Given the description of an element on the screen output the (x, y) to click on. 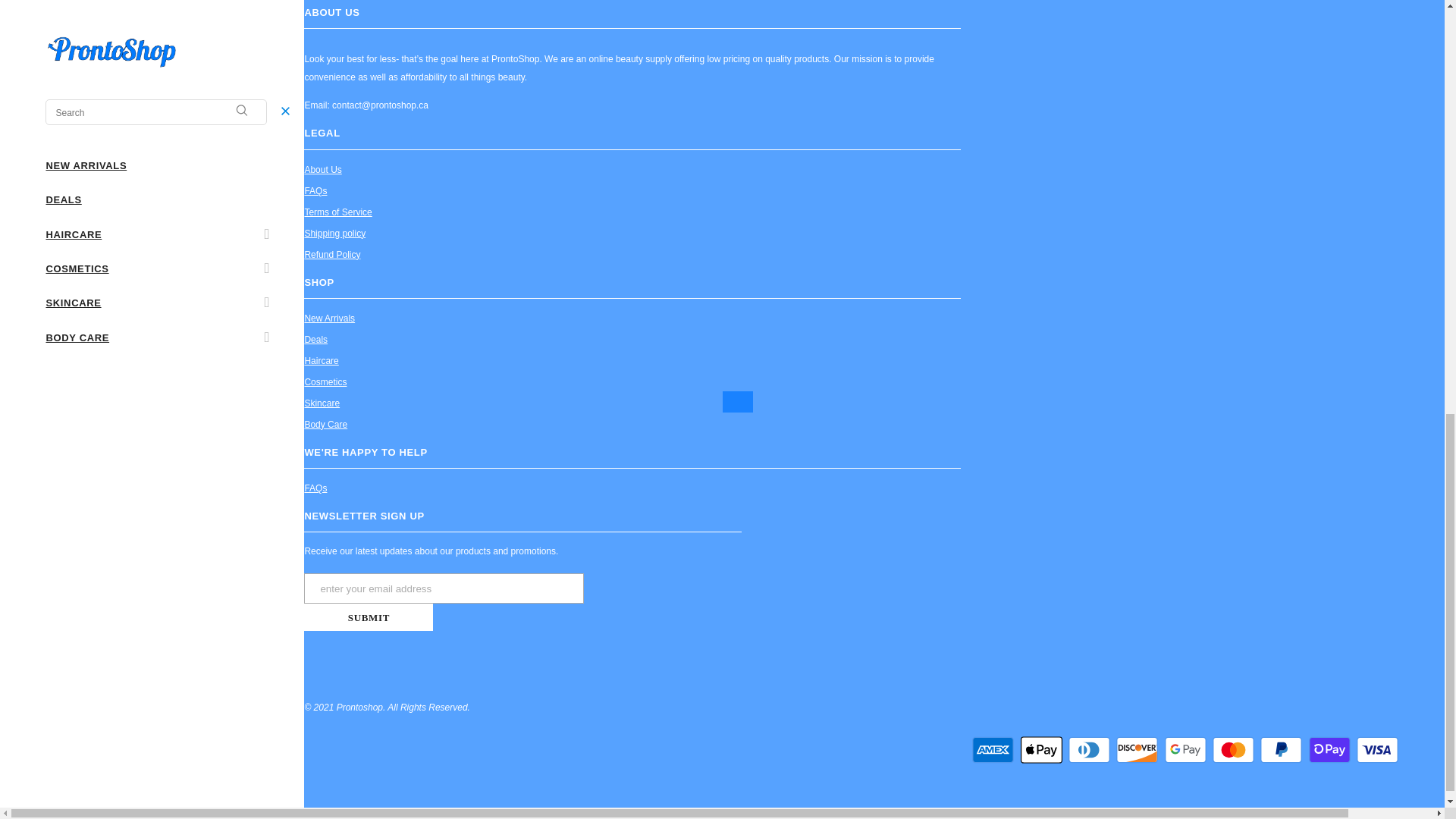
New Arrivals (329, 318)
Deals (315, 339)
FAQs (315, 190)
Shop Pay (1329, 749)
Cosmetics (325, 382)
Refund Policy (331, 254)
Haircare (320, 360)
PayPal (1280, 749)
Shipping policy (334, 233)
Terms of Service (337, 211)
American Express (992, 749)
Visa (1376, 749)
Apple Pay (1041, 749)
FAQs (315, 190)
Mastercard (1232, 749)
